Given the description of an element on the screen output the (x, y) to click on. 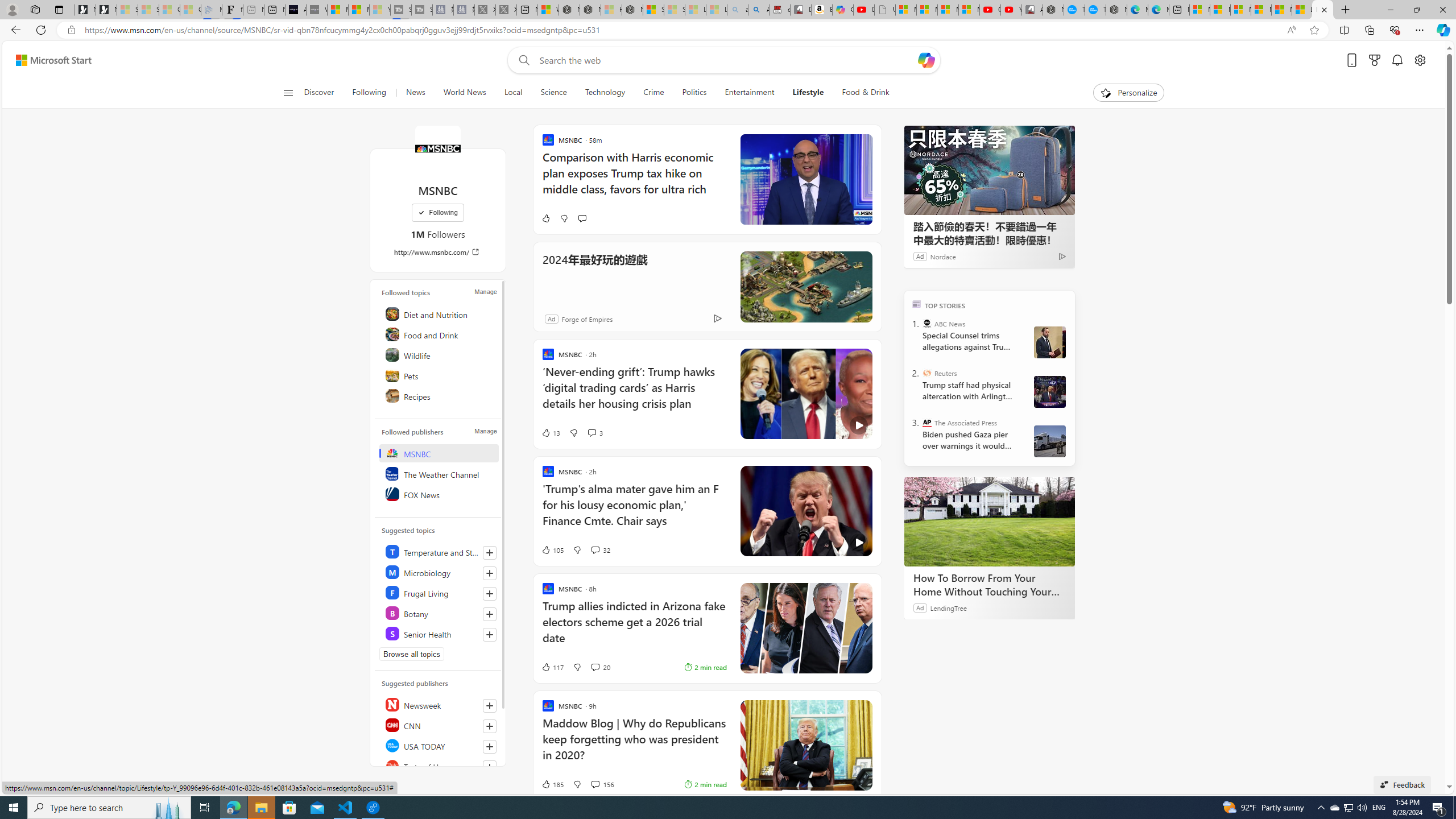
View comments 20 Comment (599, 667)
LendingTree (948, 607)
Nordace - Nordace Siena Is Not An Ordinary Backpack (632, 9)
13 Like (549, 432)
World News (464, 92)
Wildlife (439, 354)
View comments 3 Comment (591, 432)
